Given the description of an element on the screen output the (x, y) to click on. 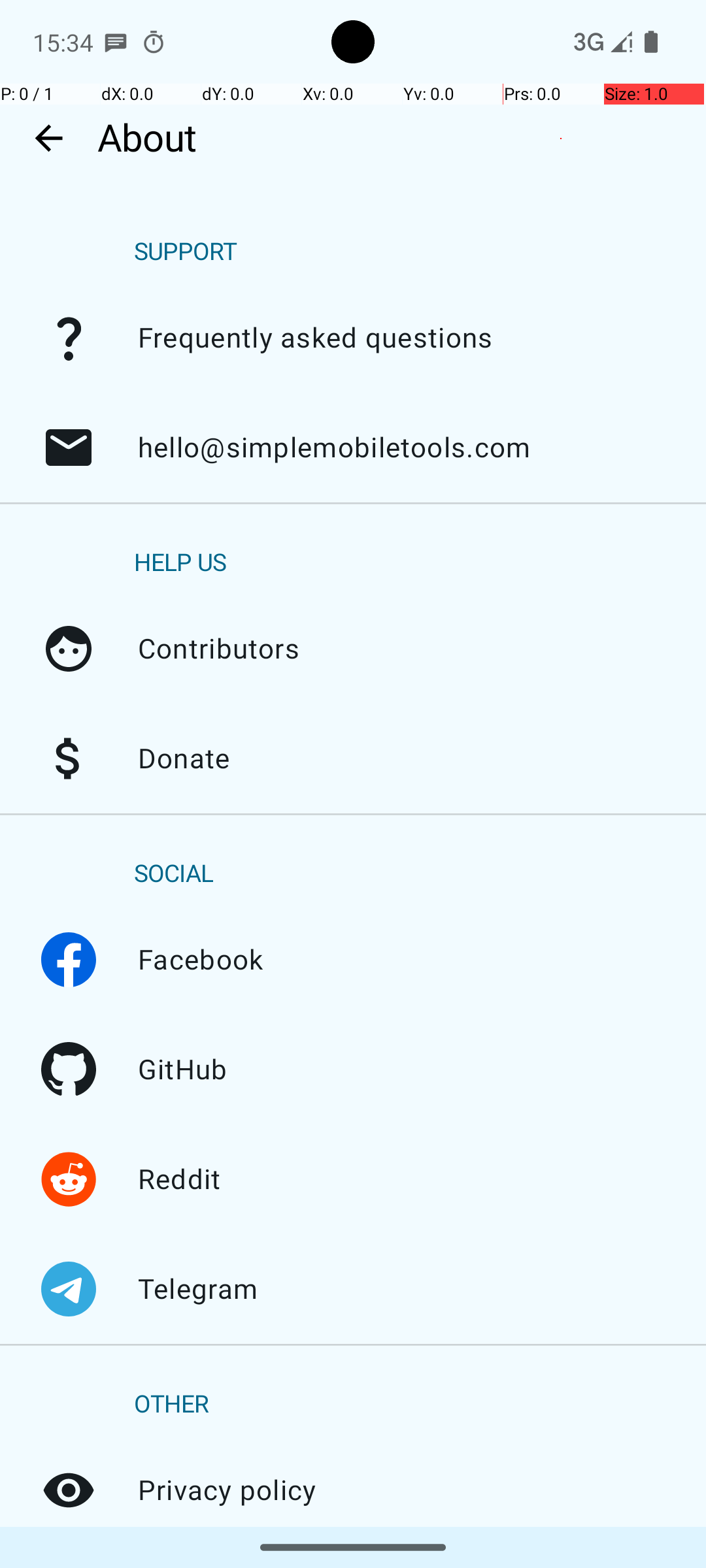
SMS Messenger notification: Amir dos Santos Element type: android.widget.ImageView (115, 41)
